Given the description of an element on the screen output the (x, y) to click on. 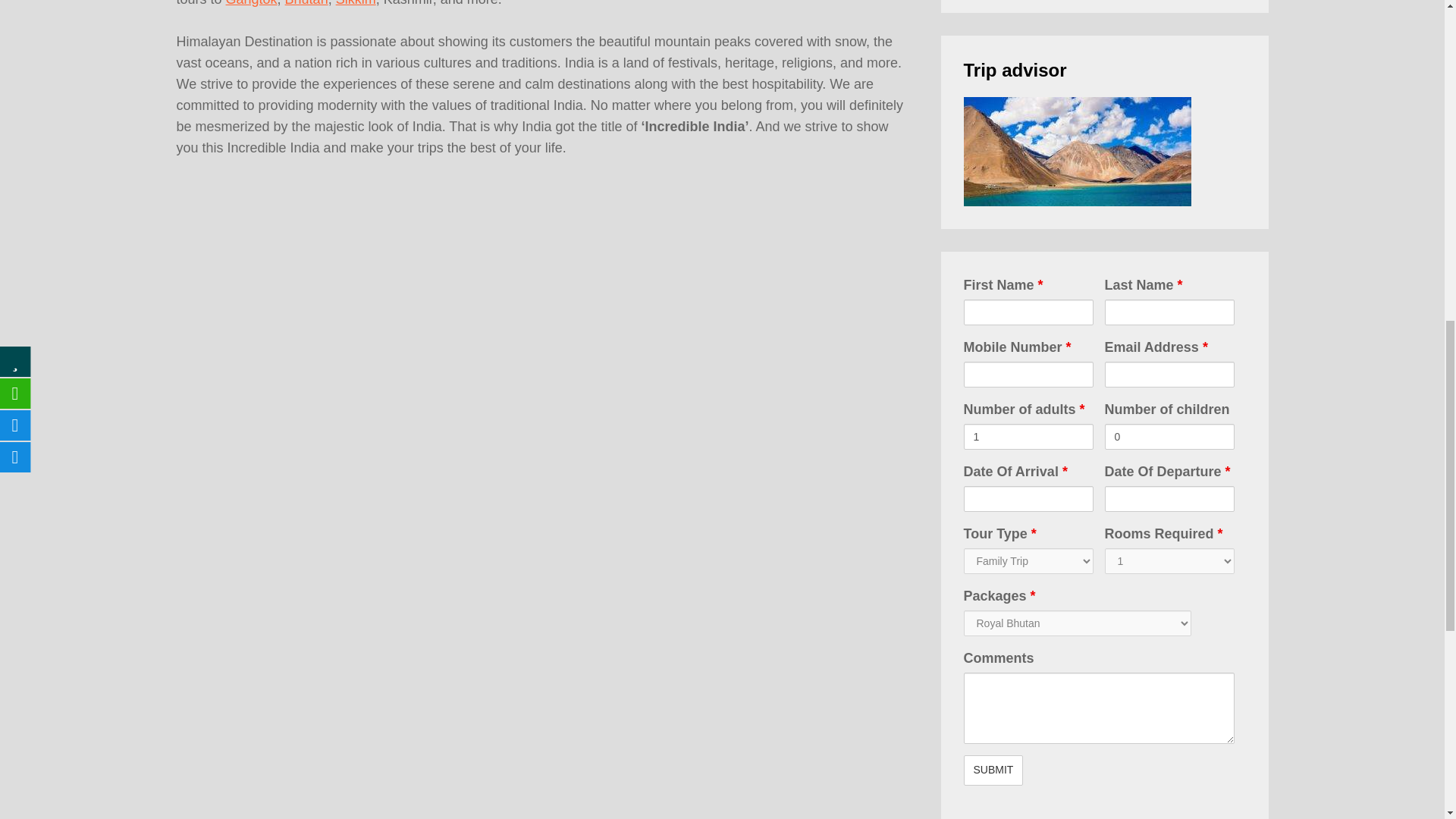
Submit (992, 770)
Submit (992, 770)
0 (1168, 436)
1 (1027, 436)
Sikkim (355, 3)
Bhutan (307, 3)
Gangtok (251, 3)
